Given the description of an element on the screen output the (x, y) to click on. 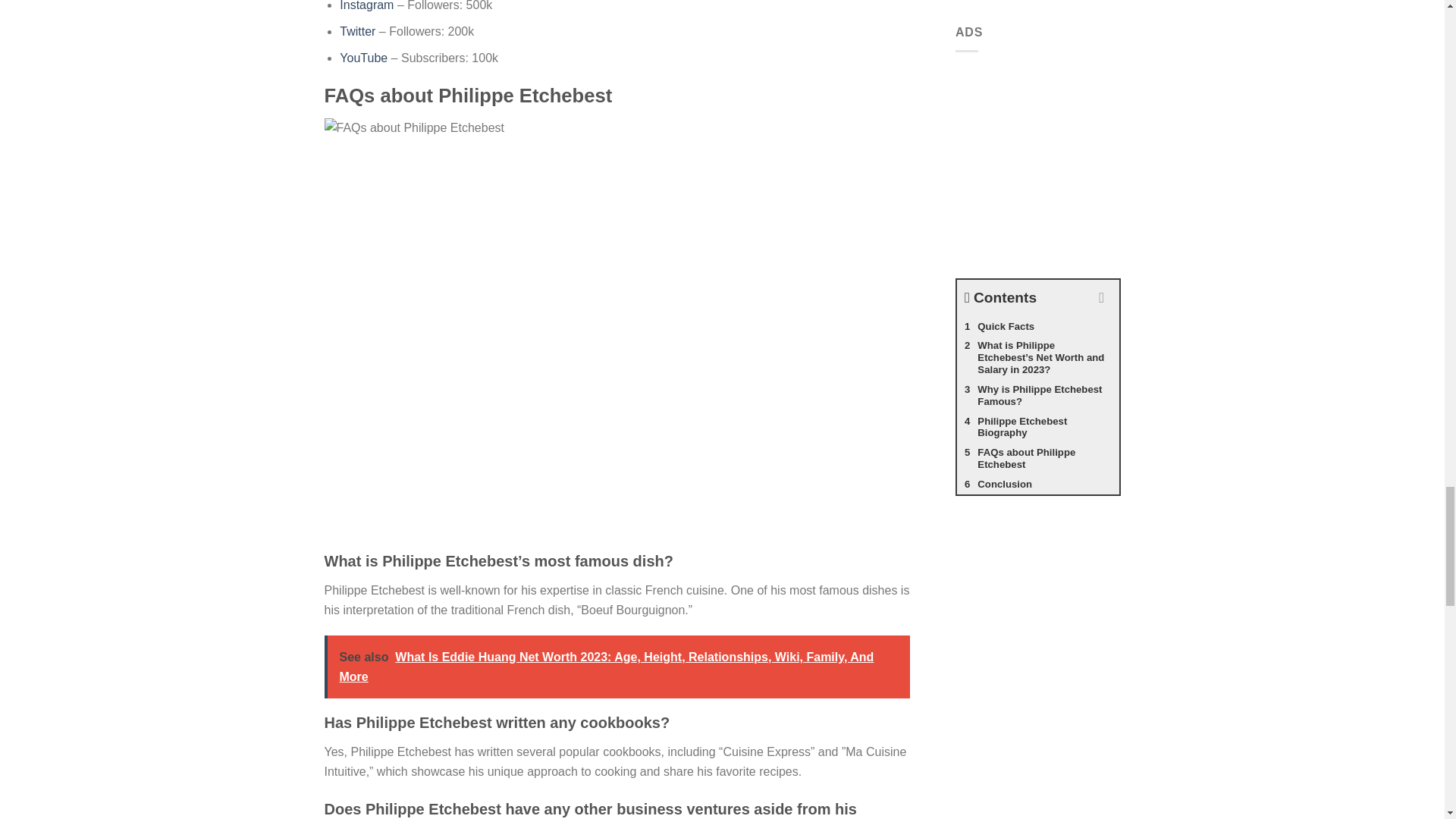
Twitter (357, 31)
Twitter (357, 31)
YouTube (363, 57)
Instagram (366, 5)
Instagram (366, 5)
